Given the description of an element on the screen output the (x, y) to click on. 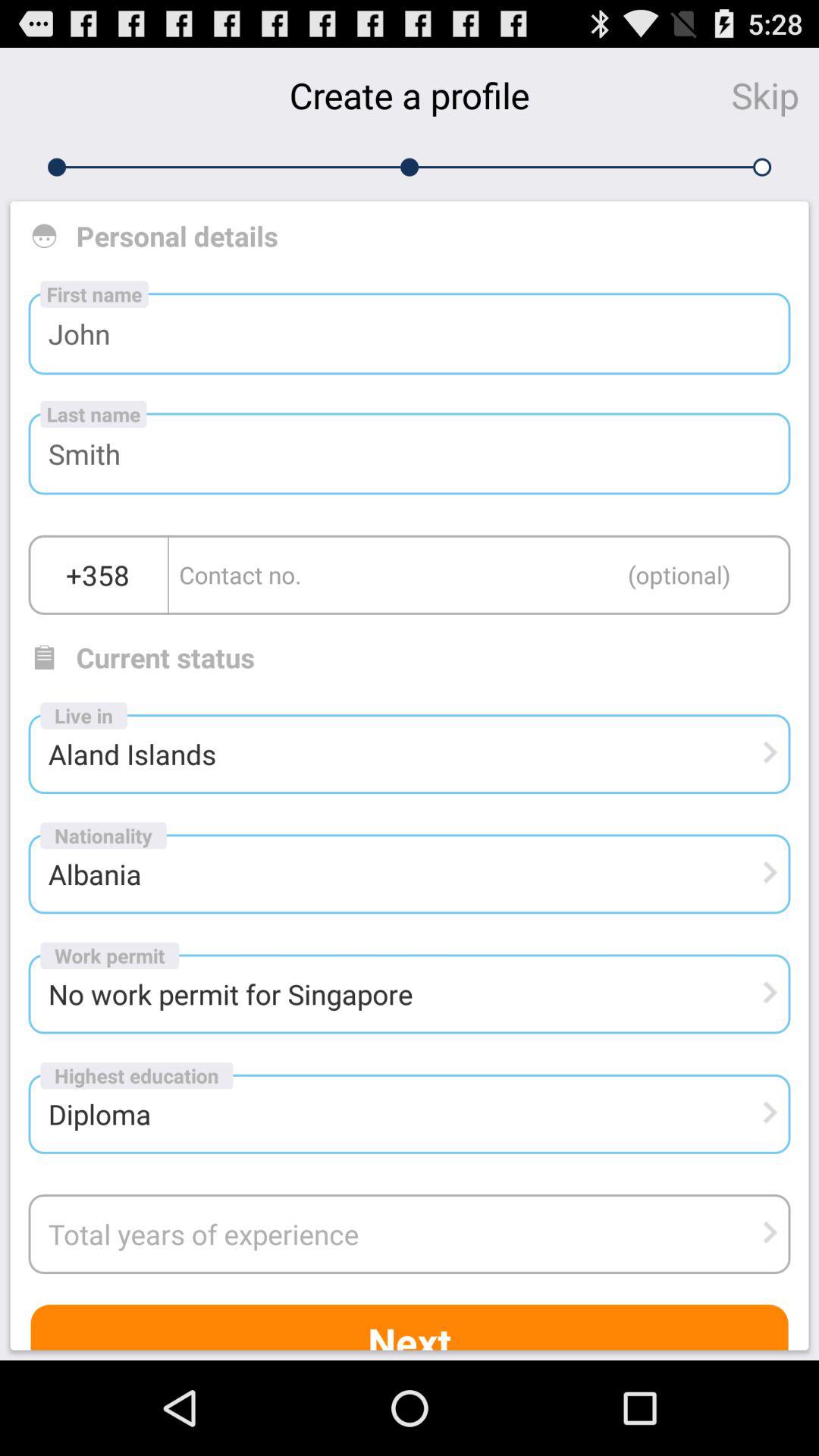
add contact number (479, 574)
